Given the description of an element on the screen output the (x, y) to click on. 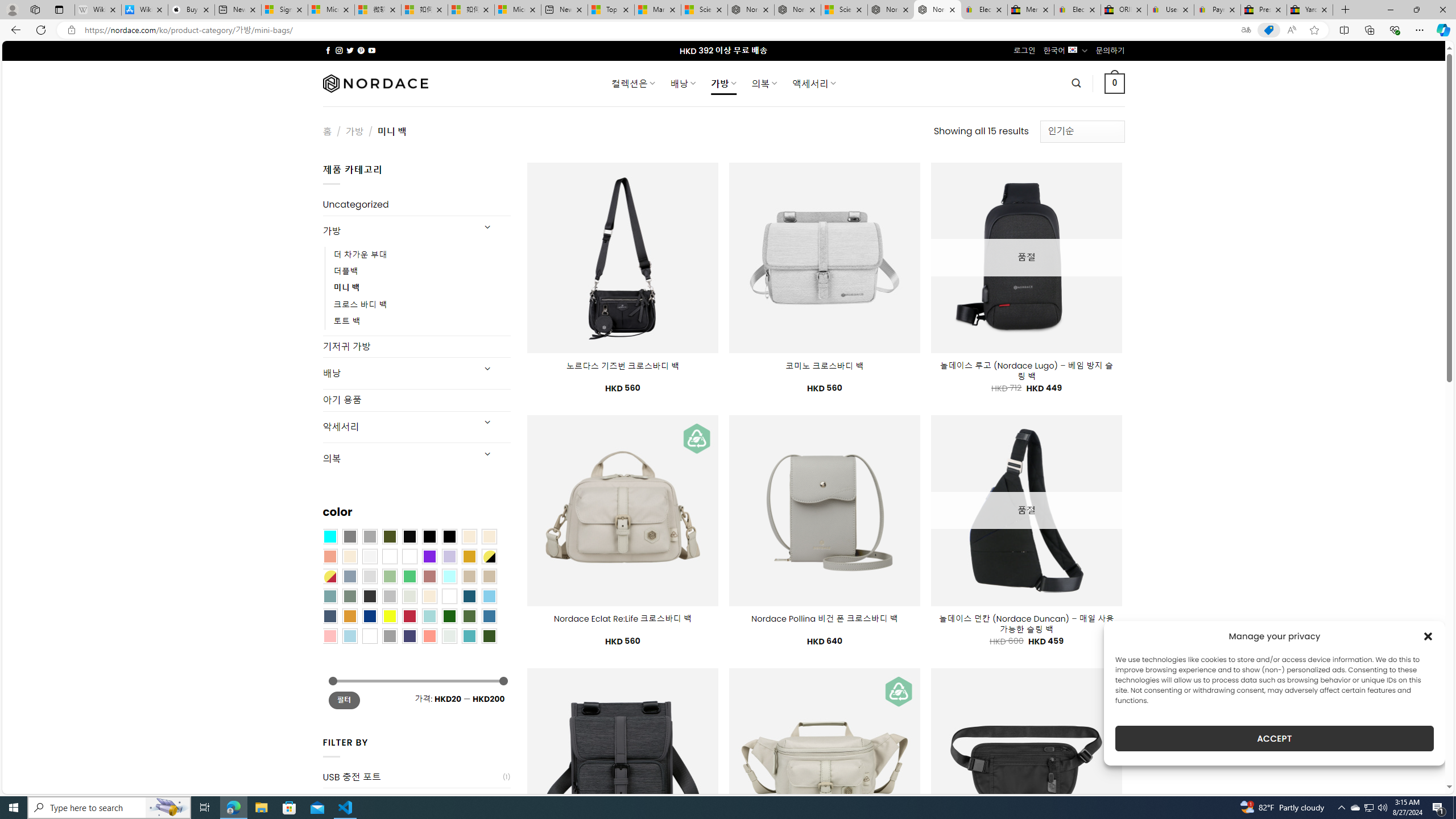
Microsoft account | Account Checkup (517, 9)
Kelp (408, 555)
